Given the description of an element on the screen output the (x, y) to click on. 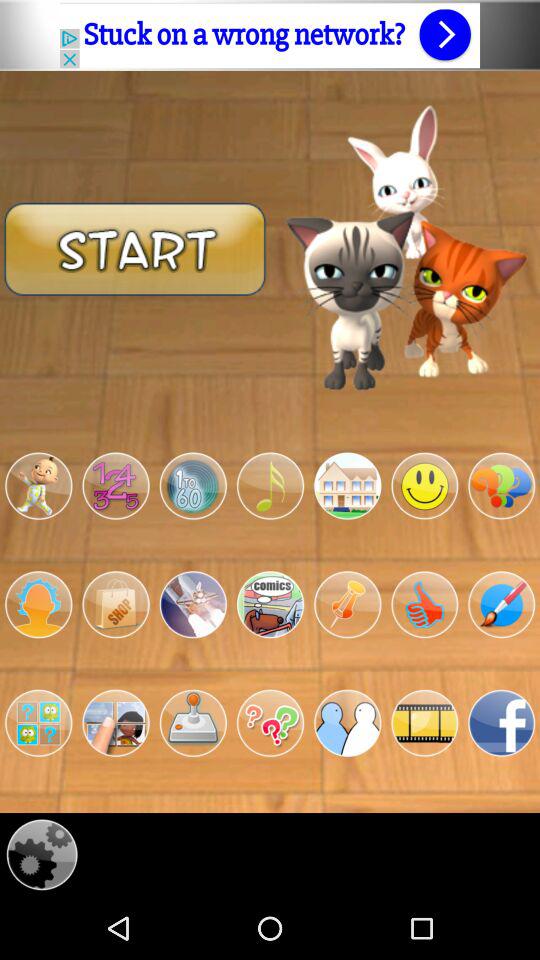
pinned games (347, 604)
